Given the description of an element on the screen output the (x, y) to click on. 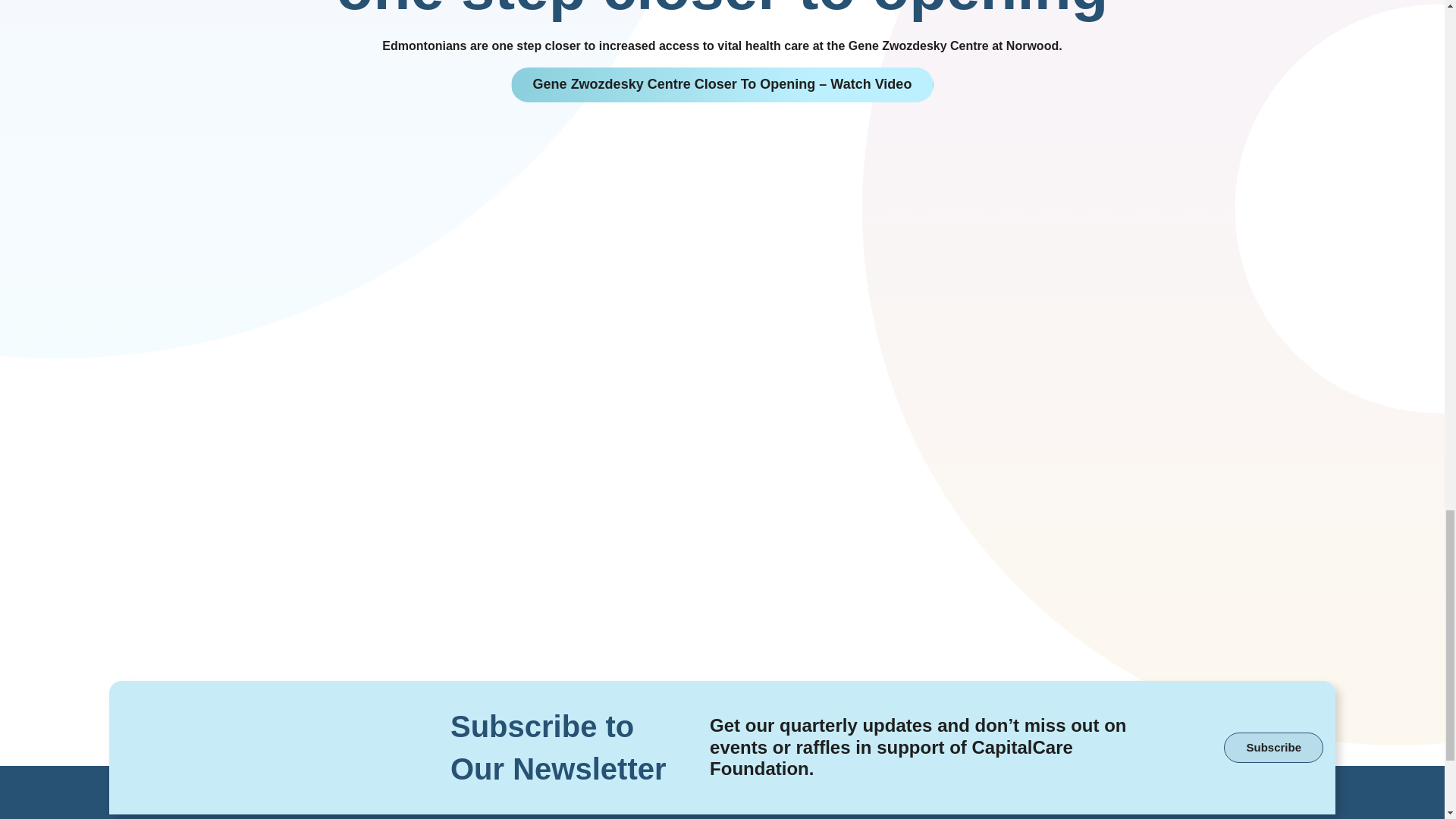
Subscribe (1273, 747)
